Given the description of an element on the screen output the (x, y) to click on. 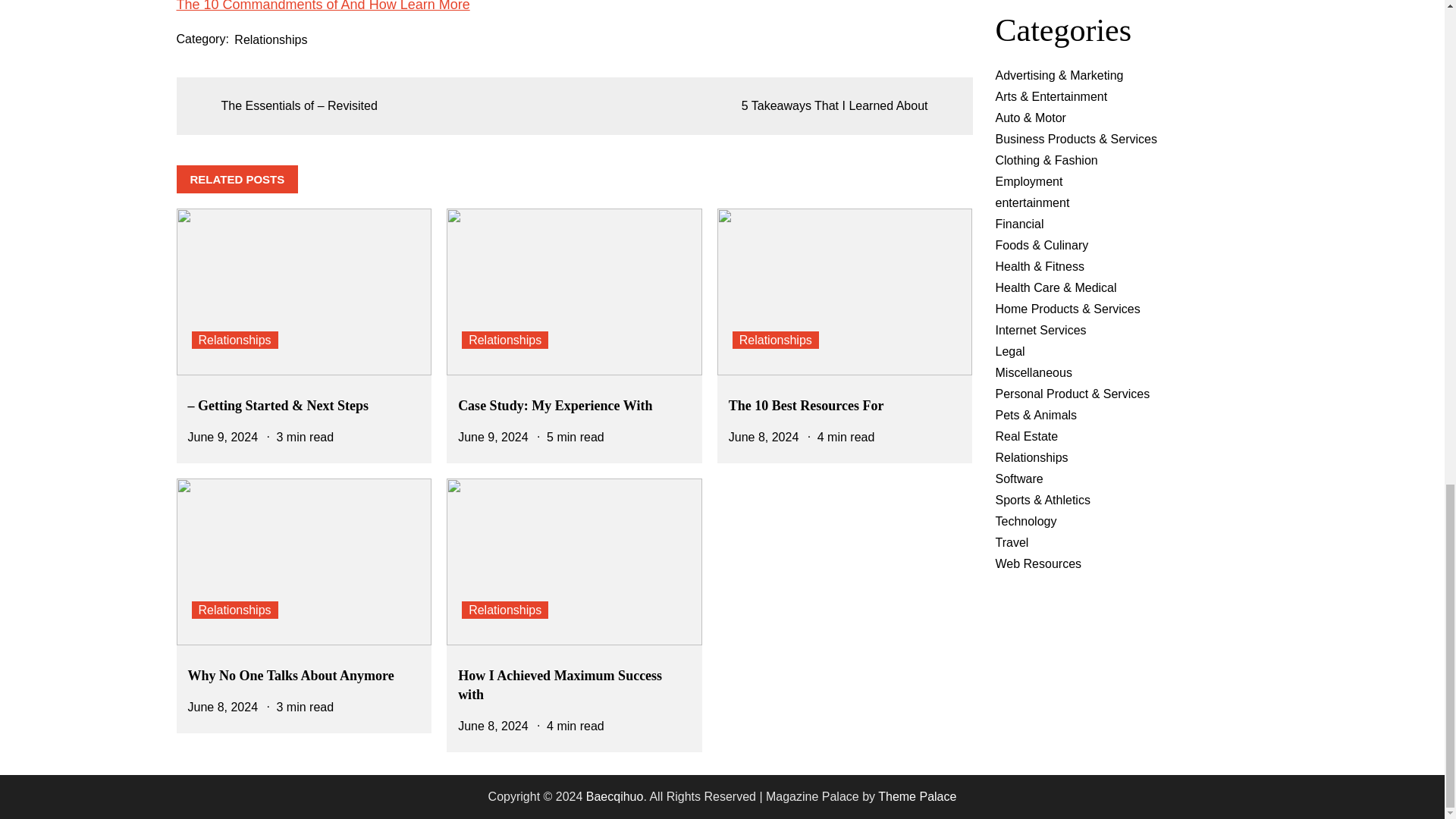
Relationships (234, 610)
Why No One Talks About Anymore (290, 675)
June 8, 2024 (764, 436)
Relationships (775, 339)
Relationships (269, 39)
June 8, 2024 (223, 707)
Relationships (234, 339)
Relationships (504, 339)
June 9, 2024 (223, 436)
How I Achieved Maximum Success with (560, 684)
